Given the description of an element on the screen output the (x, y) to click on. 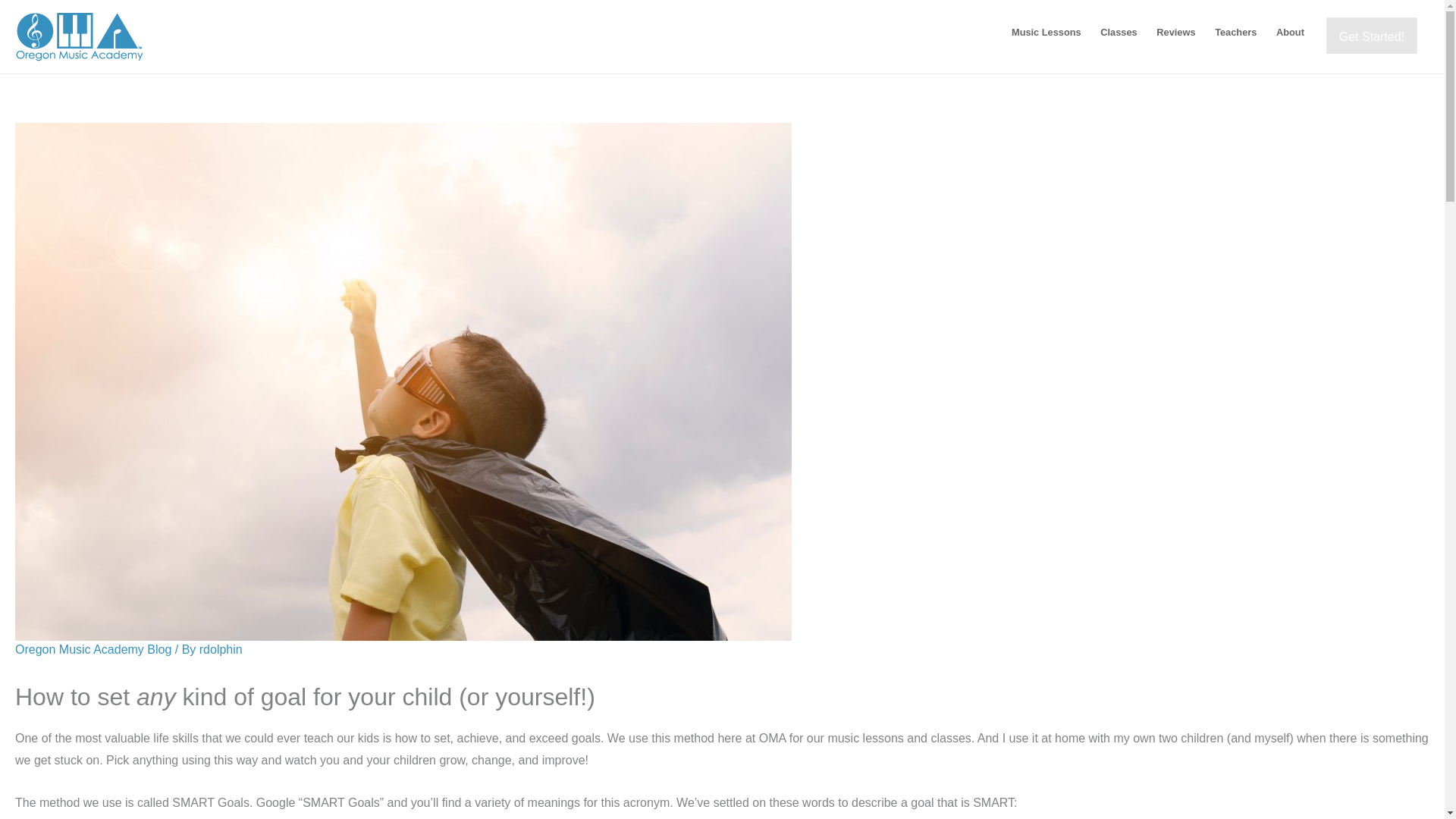
About OMA (1290, 31)
Reviews (1176, 31)
Classes (1118, 31)
View all posts by rdolphin (221, 649)
Teachers (1235, 31)
Get Started! (1371, 35)
rdolphin (221, 649)
Music Lessons (1045, 31)
About (1290, 31)
Reviews (1176, 31)
